Given the description of an element on the screen output the (x, y) to click on. 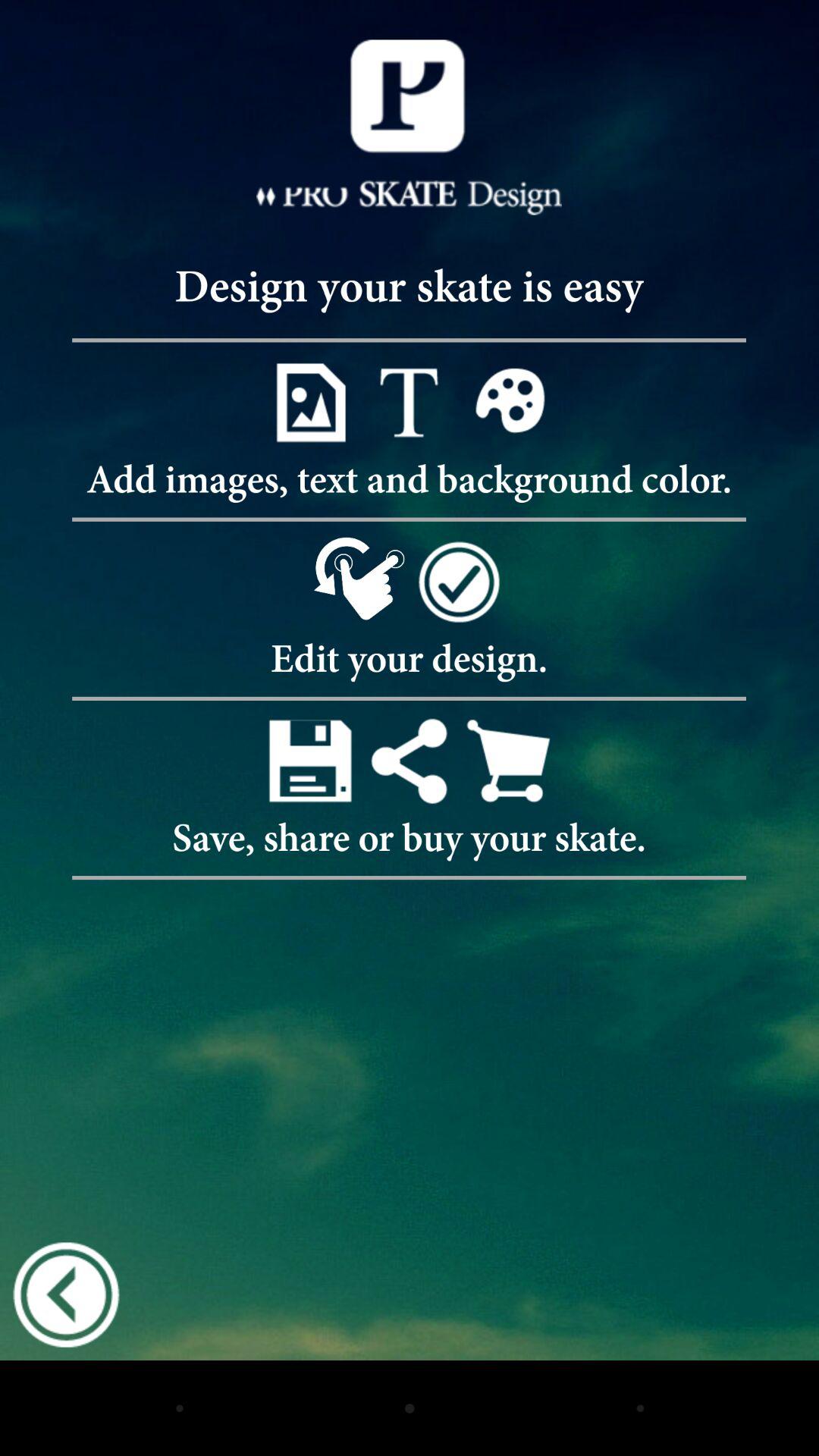
check out cart (508, 760)
